Given the description of an element on the screen output the (x, y) to click on. 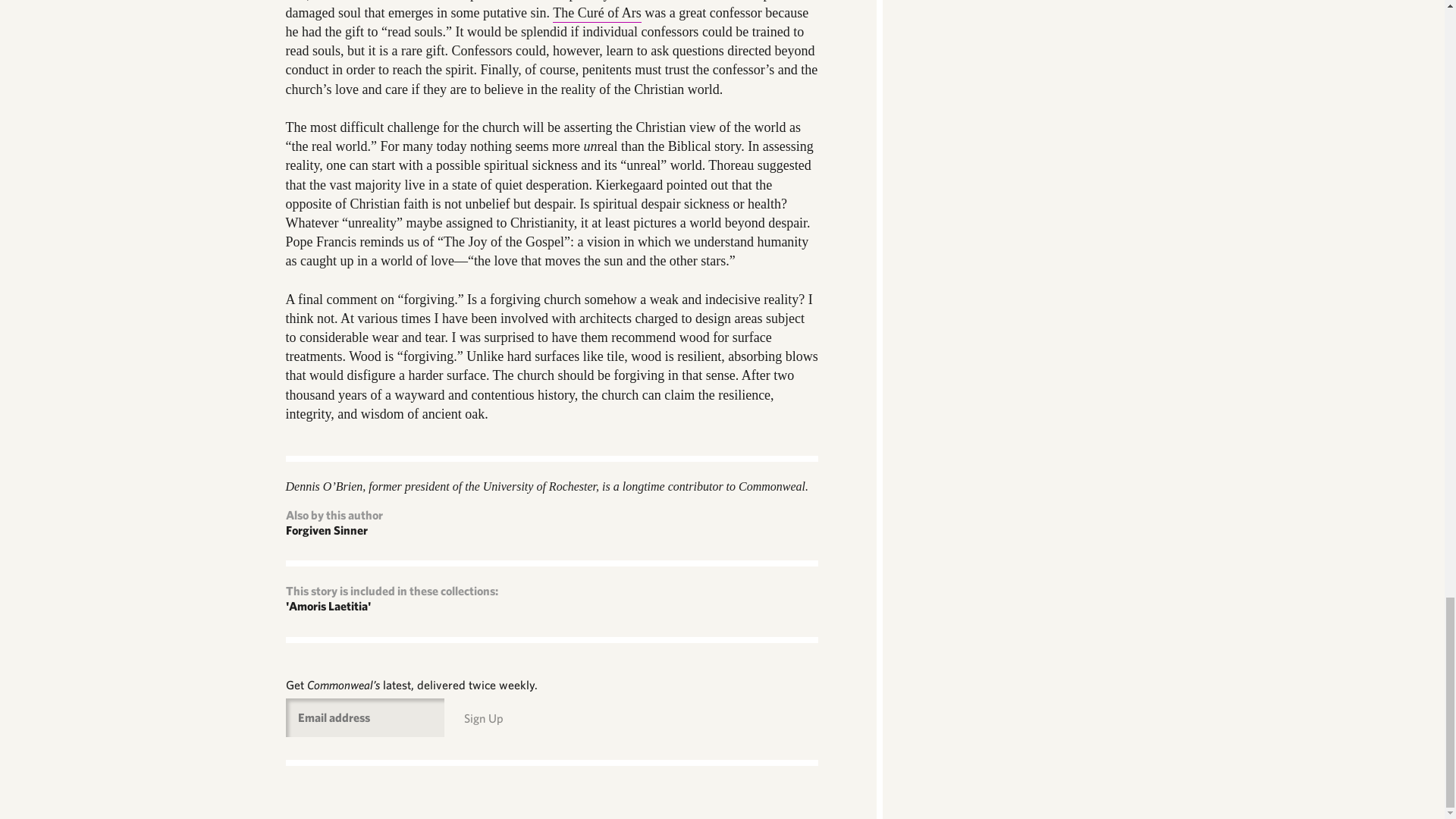
Sign Up (484, 718)
